Given the description of an element on the screen output the (x, y) to click on. 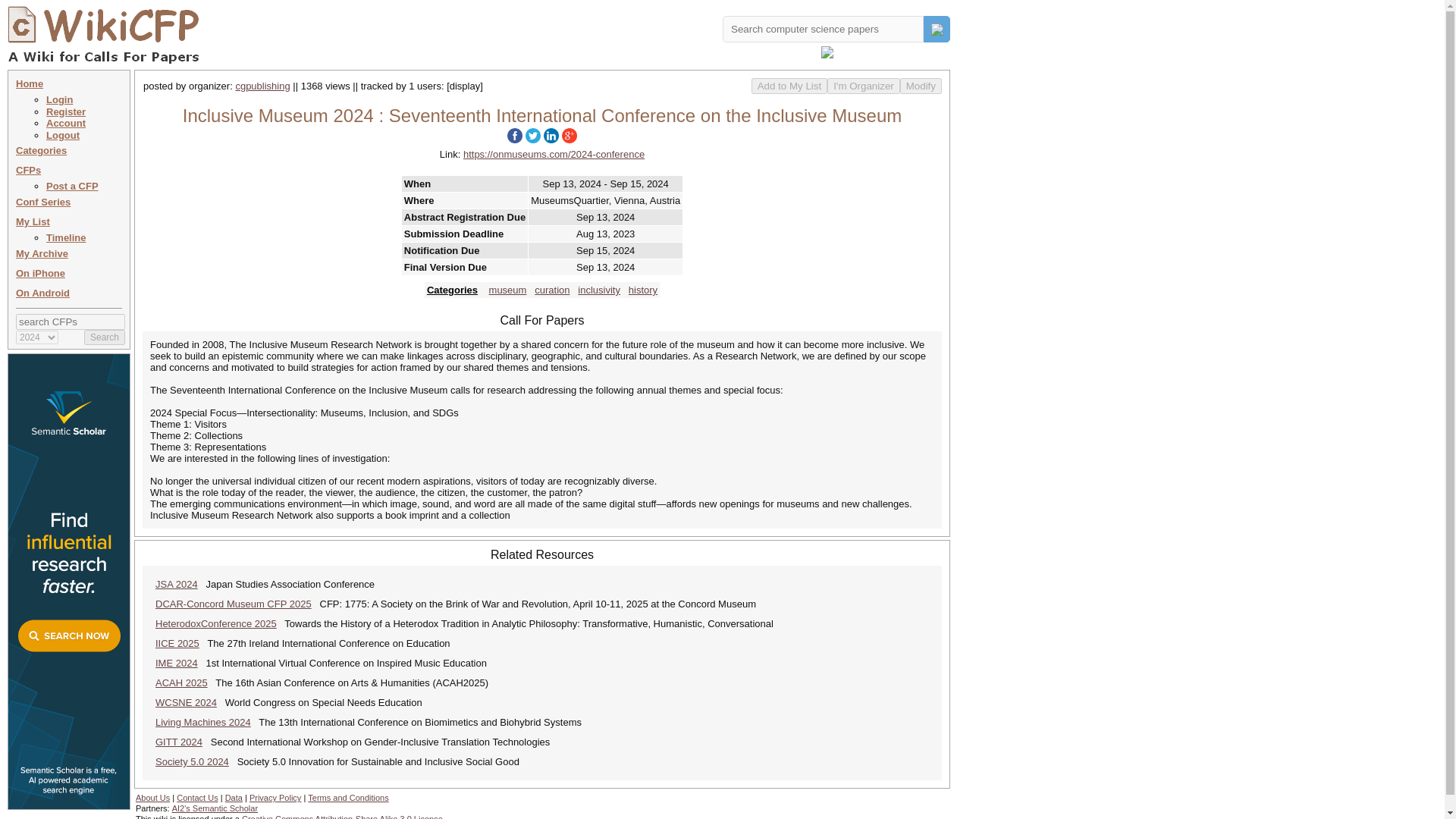
Account (65, 122)
Search (104, 337)
Logout (63, 134)
history (643, 289)
My List (32, 221)
Add to My List (789, 85)
IICE 2025 (177, 643)
DCAR-Concord Museum CFP 2025 (233, 603)
JSA 2024 (176, 583)
Register (65, 111)
